Given the description of an element on the screen output the (x, y) to click on. 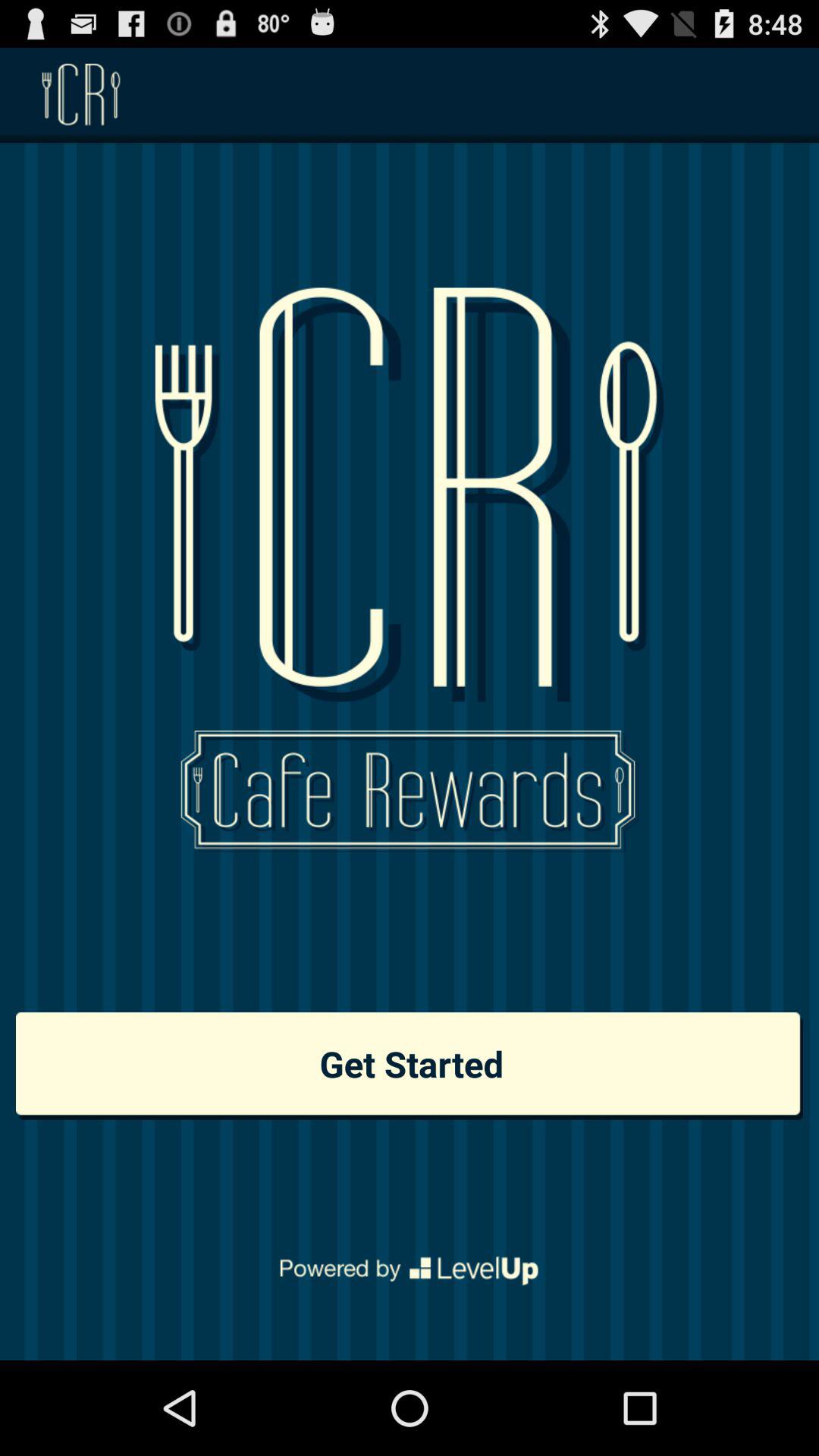
swipe until the get started (409, 1065)
